Given the description of an element on the screen output the (x, y) to click on. 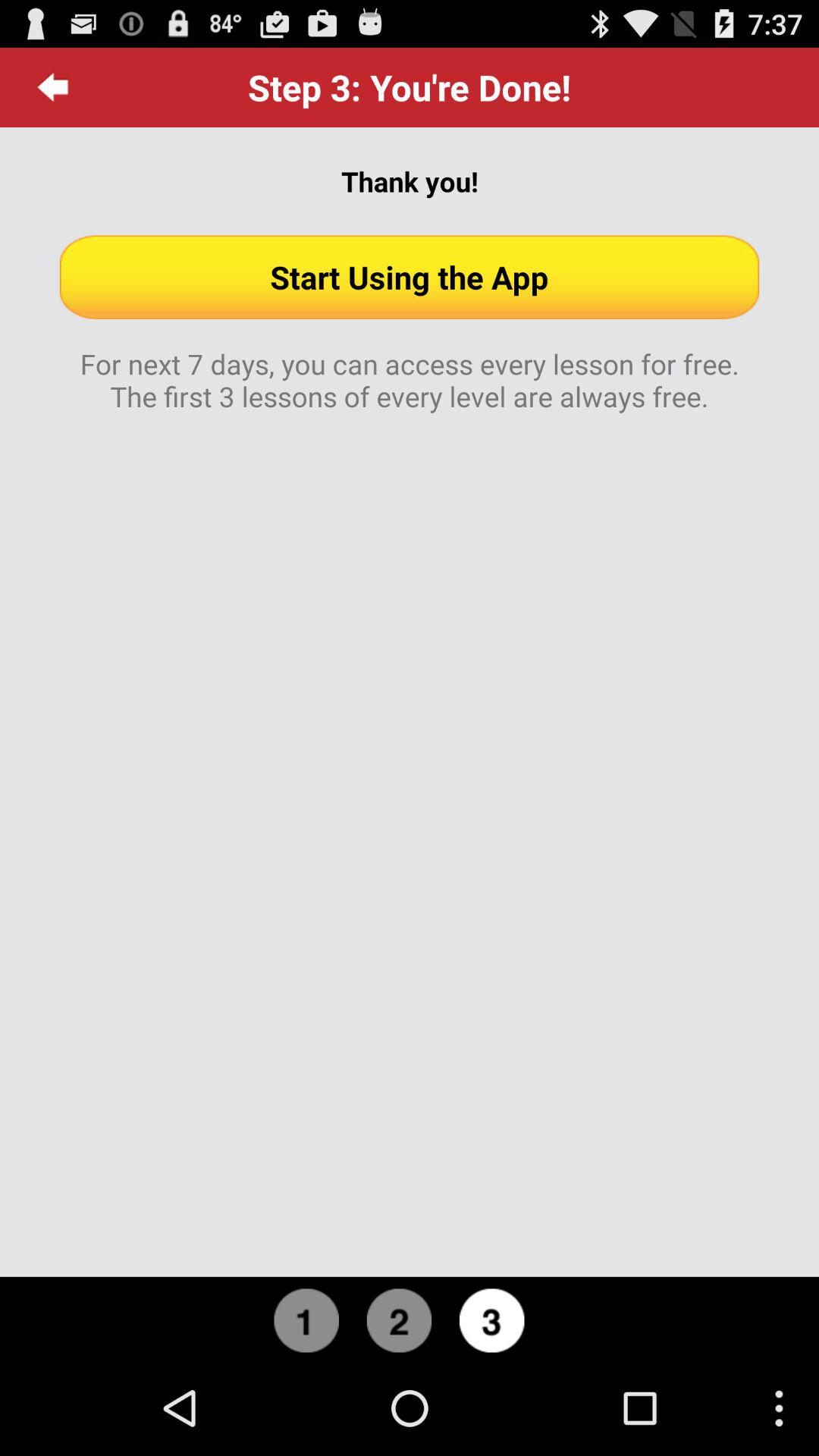
tap item next to the step 3 you app (53, 87)
